Given the description of an element on the screen output the (x, y) to click on. 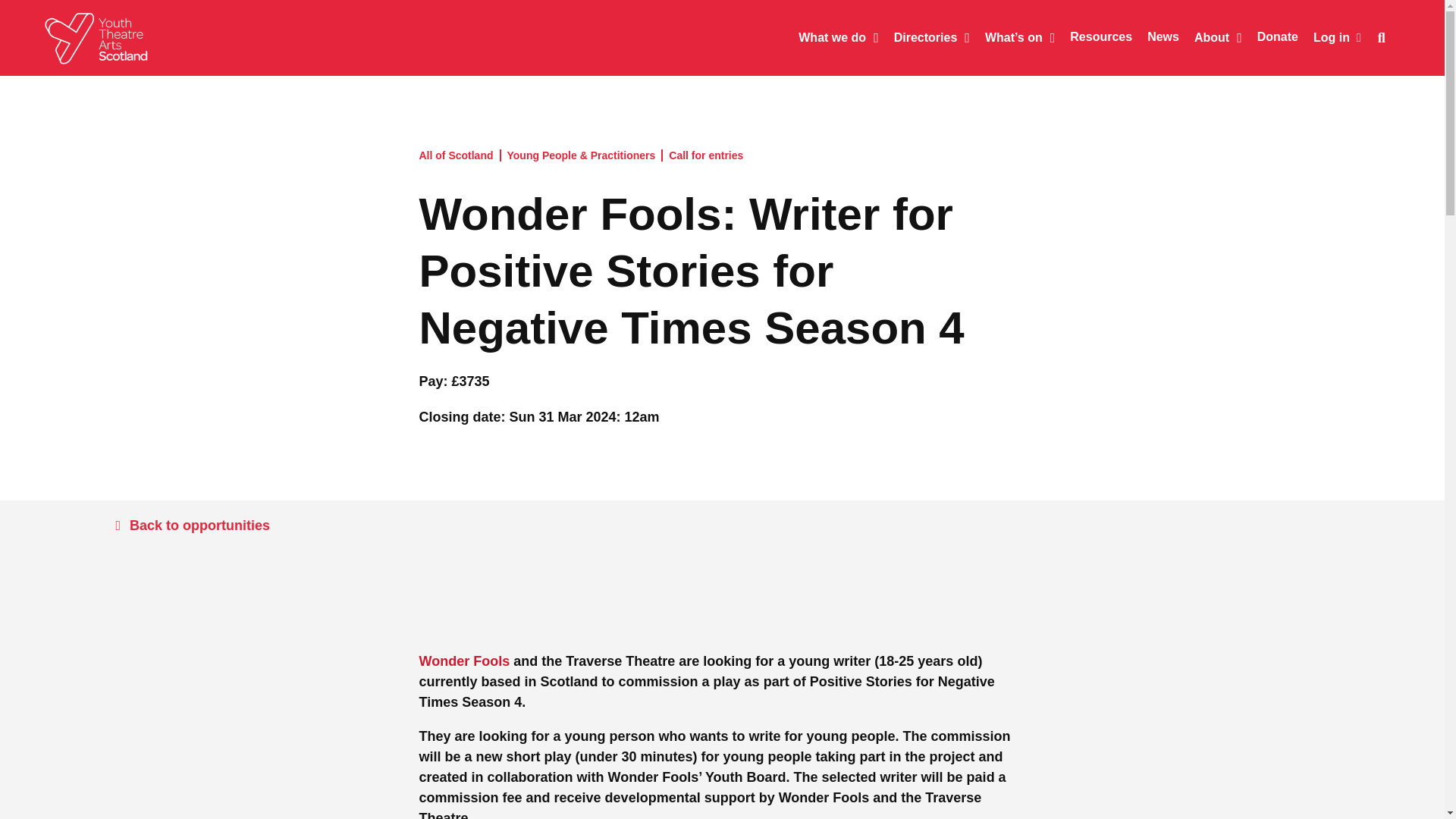
About (1210, 38)
News (1155, 37)
Wonder Fools (464, 661)
What we do (830, 38)
Back to opportunities (192, 525)
Log in (1337, 37)
Resources (1093, 37)
Directories (924, 38)
Donate (1269, 37)
